Given the description of an element on the screen output the (x, y) to click on. 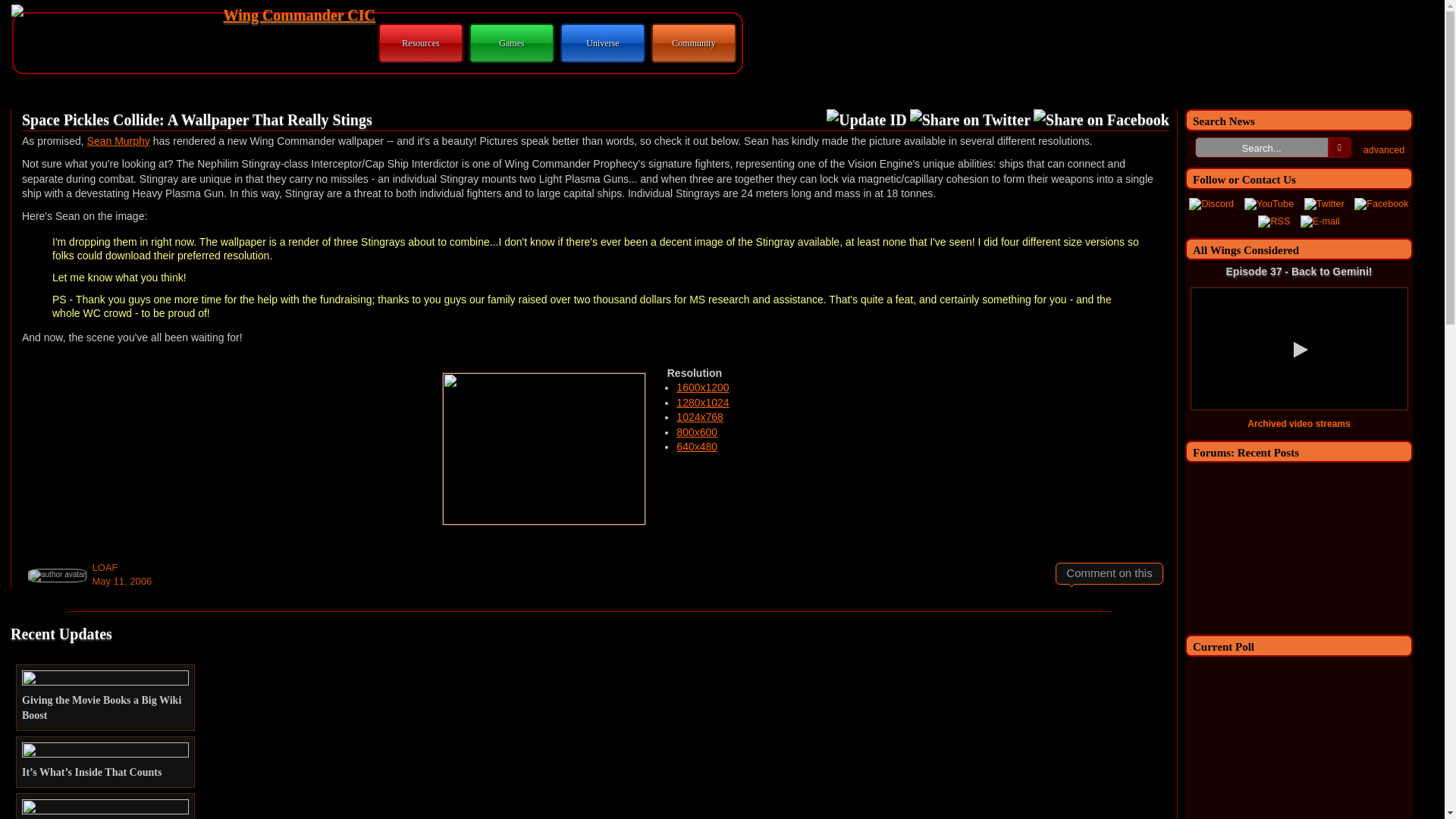
Resources (420, 42)
Games (511, 42)
Share on Facebook (1101, 119)
Follow us on YouTube (1269, 204)
RSS news feed (1273, 222)
Advanced search (1383, 149)
Share on Twitter (970, 119)
Follow us on Twitter (1323, 204)
Discord chat with staff and fans (1211, 204)
Follow us on Facebook (1380, 204)
